Given the description of an element on the screen output the (x, y) to click on. 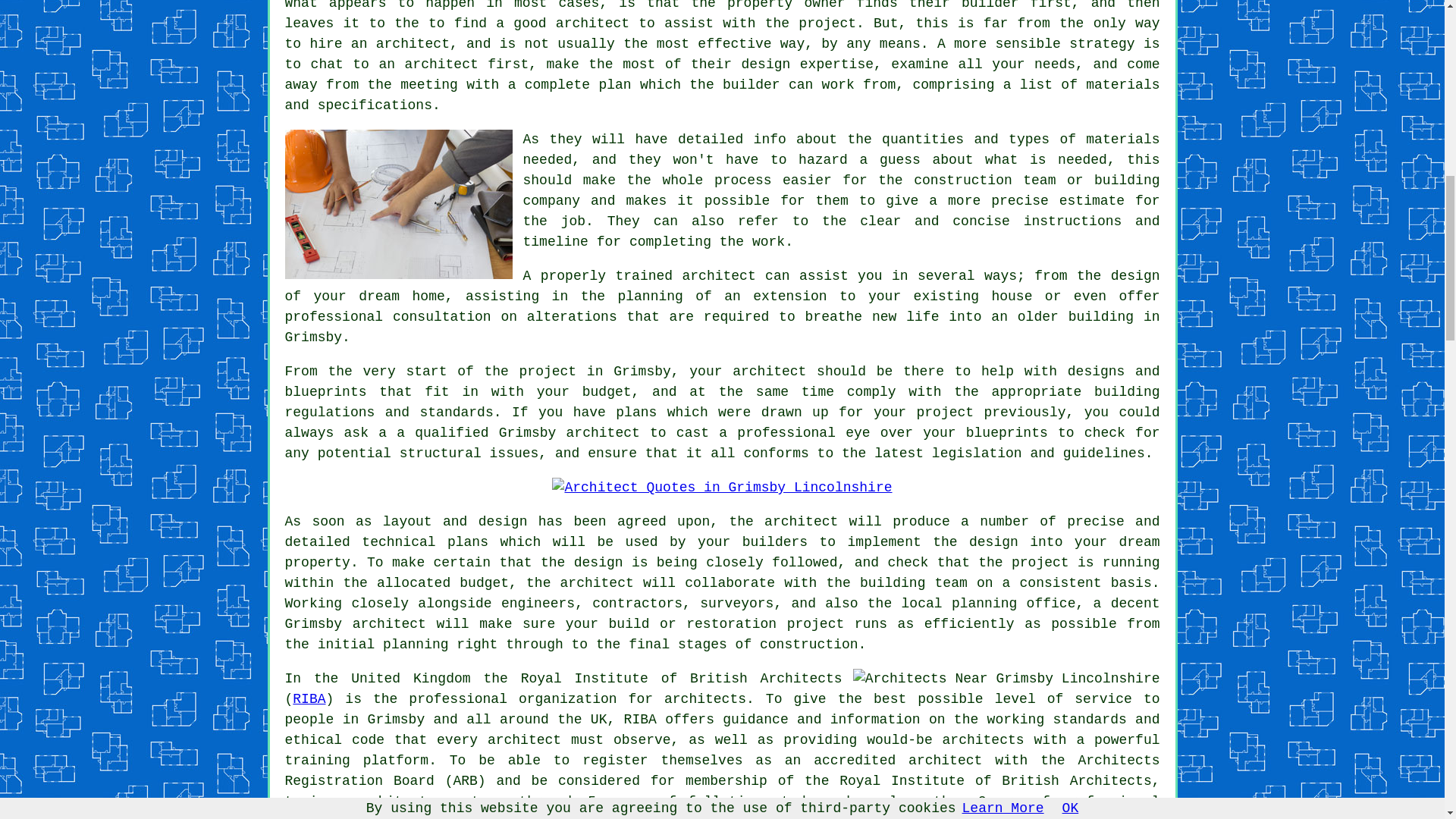
architect (592, 23)
planning (984, 603)
materials (1122, 139)
architects (704, 698)
design (993, 541)
architect (718, 275)
Architect Quotes in Grimsby Lincolnshire (721, 487)
Architects Near Grimsby Lincolnshire (1006, 679)
